Given the description of an element on the screen output the (x, y) to click on. 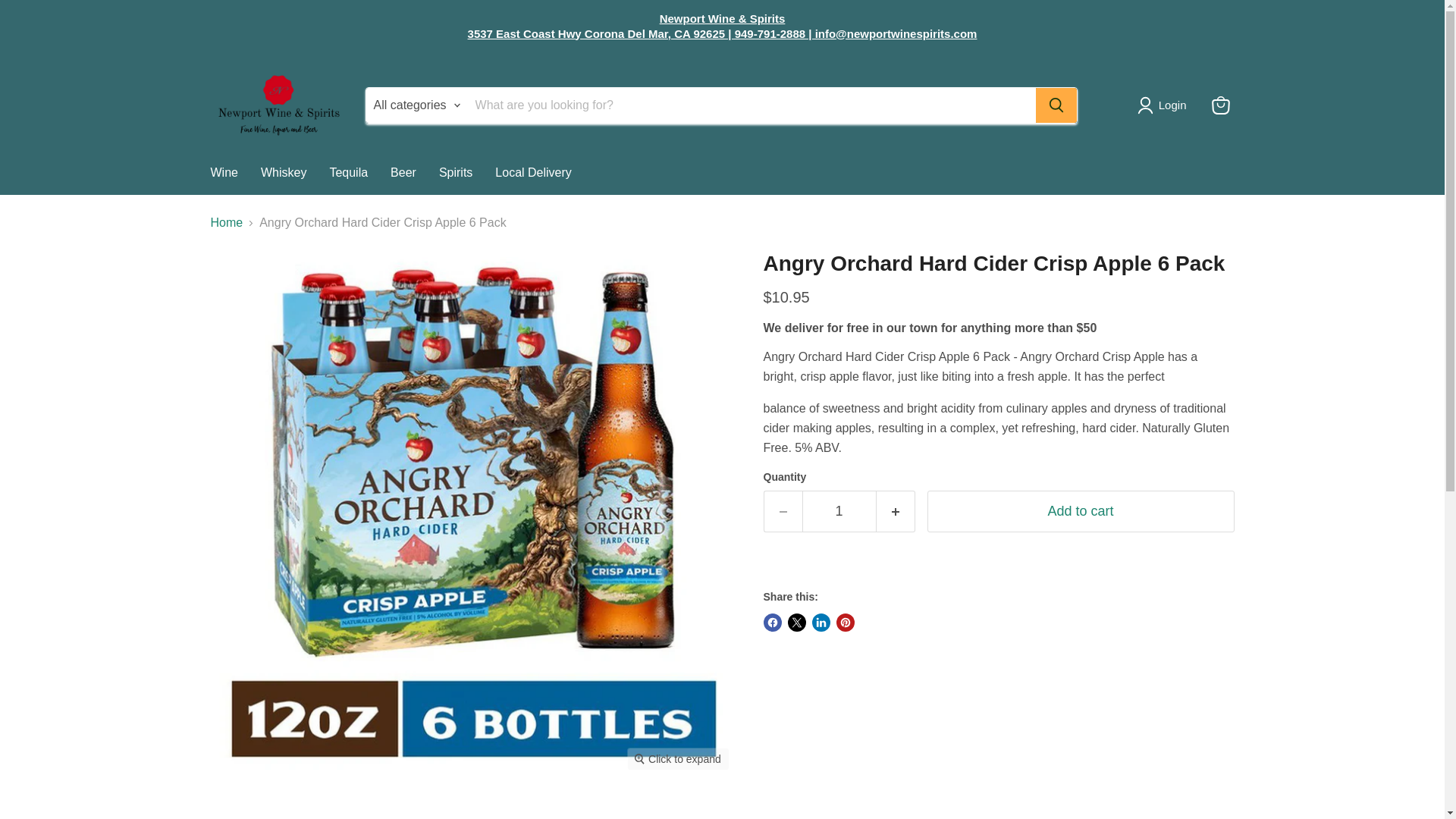
Home (227, 223)
View cart (1220, 105)
Beer (403, 173)
Tequila (347, 173)
Local Delivery (532, 173)
Wine (223, 173)
Whiskey (282, 173)
Click to expand (678, 758)
1 (839, 511)
Spirits (455, 173)
